Given the description of an element on the screen output the (x, y) to click on. 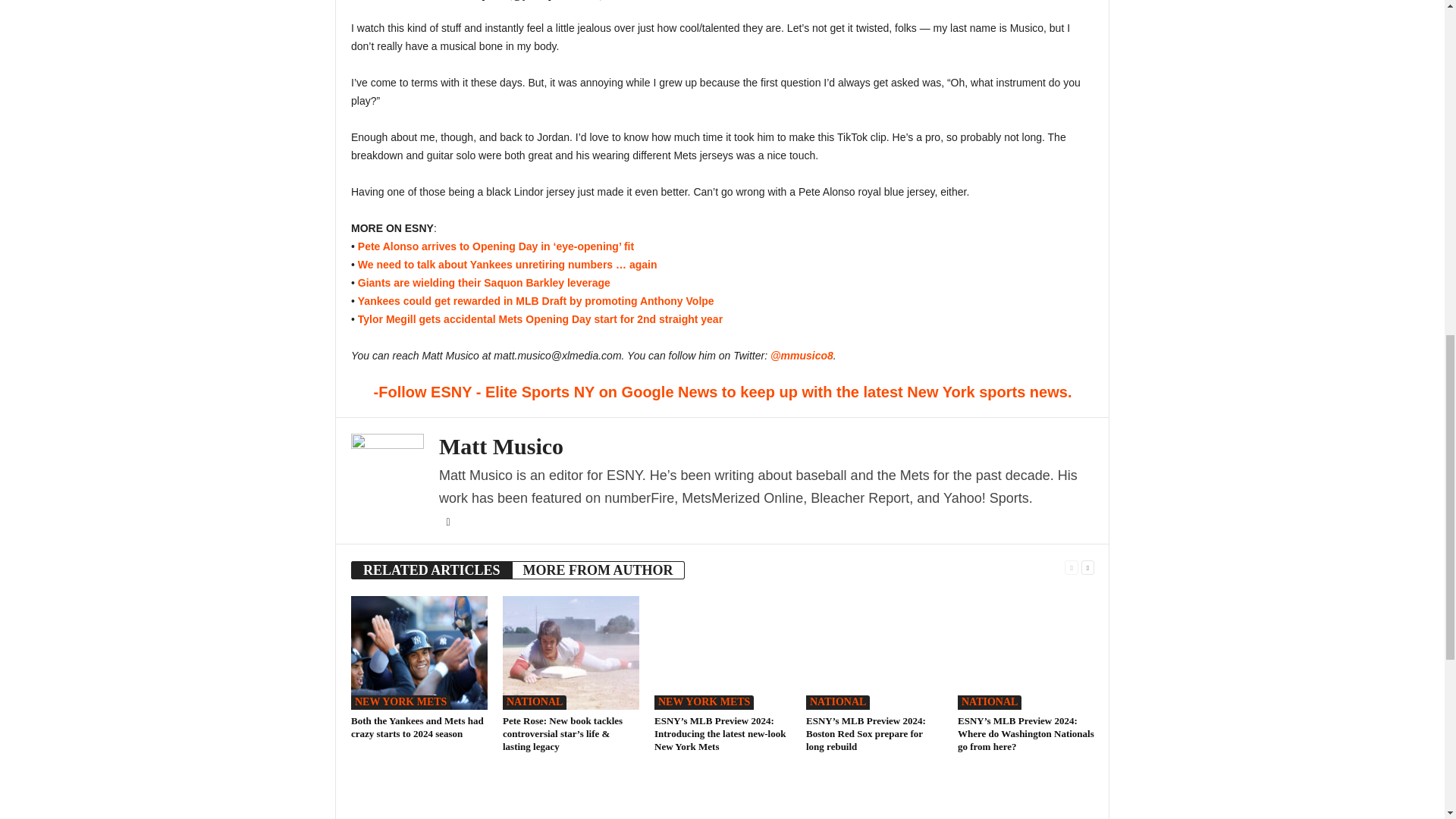
Both the Yankees and Mets had crazy starts to 2024 season (416, 726)
Both the Yankees and Mets had crazy starts to 2024 season (418, 653)
Twitter (448, 521)
